Given the description of an element on the screen output the (x, y) to click on. 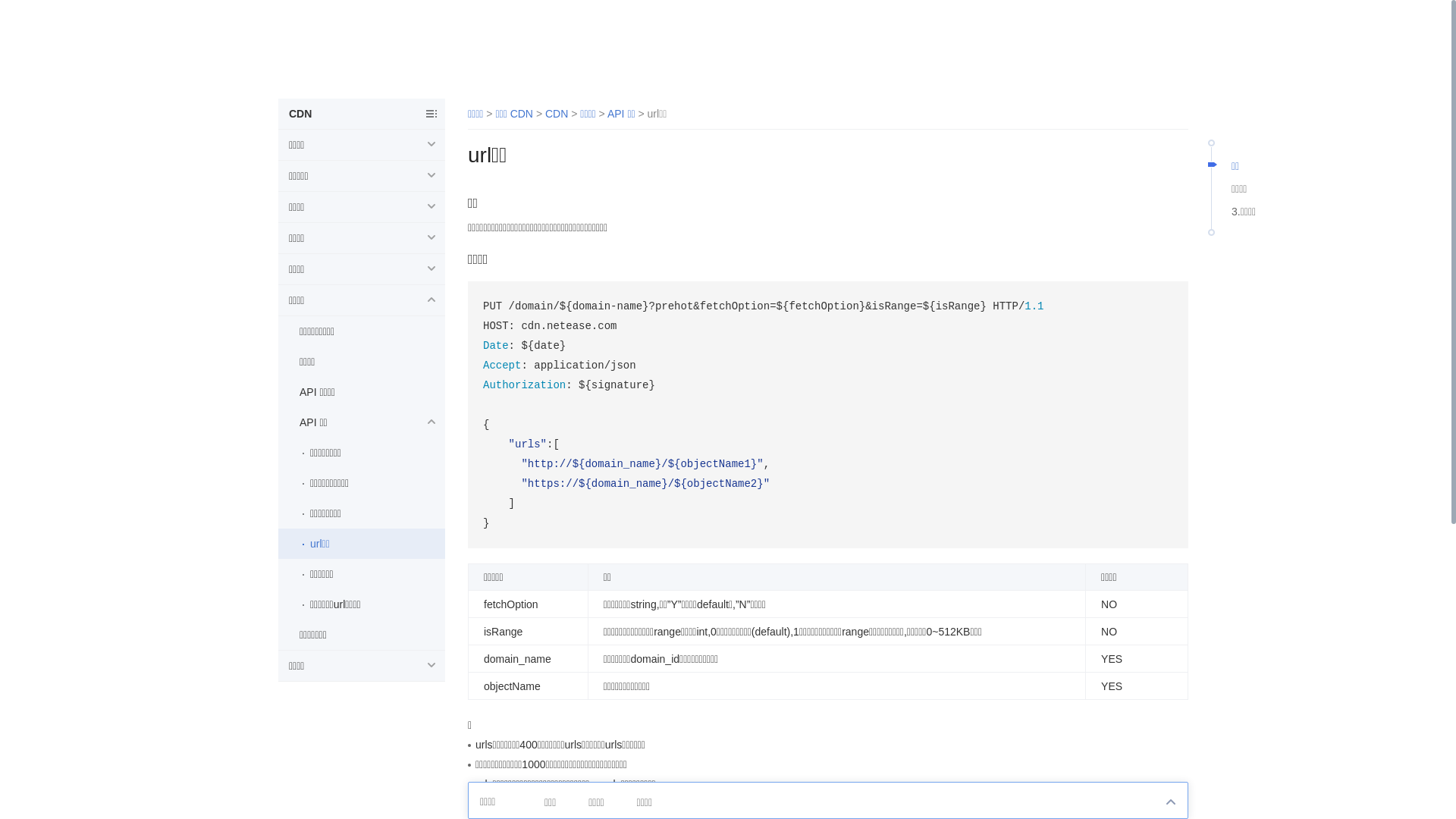
CDN Element type: text (556, 113)
